Given the description of an element on the screen output the (x, y) to click on. 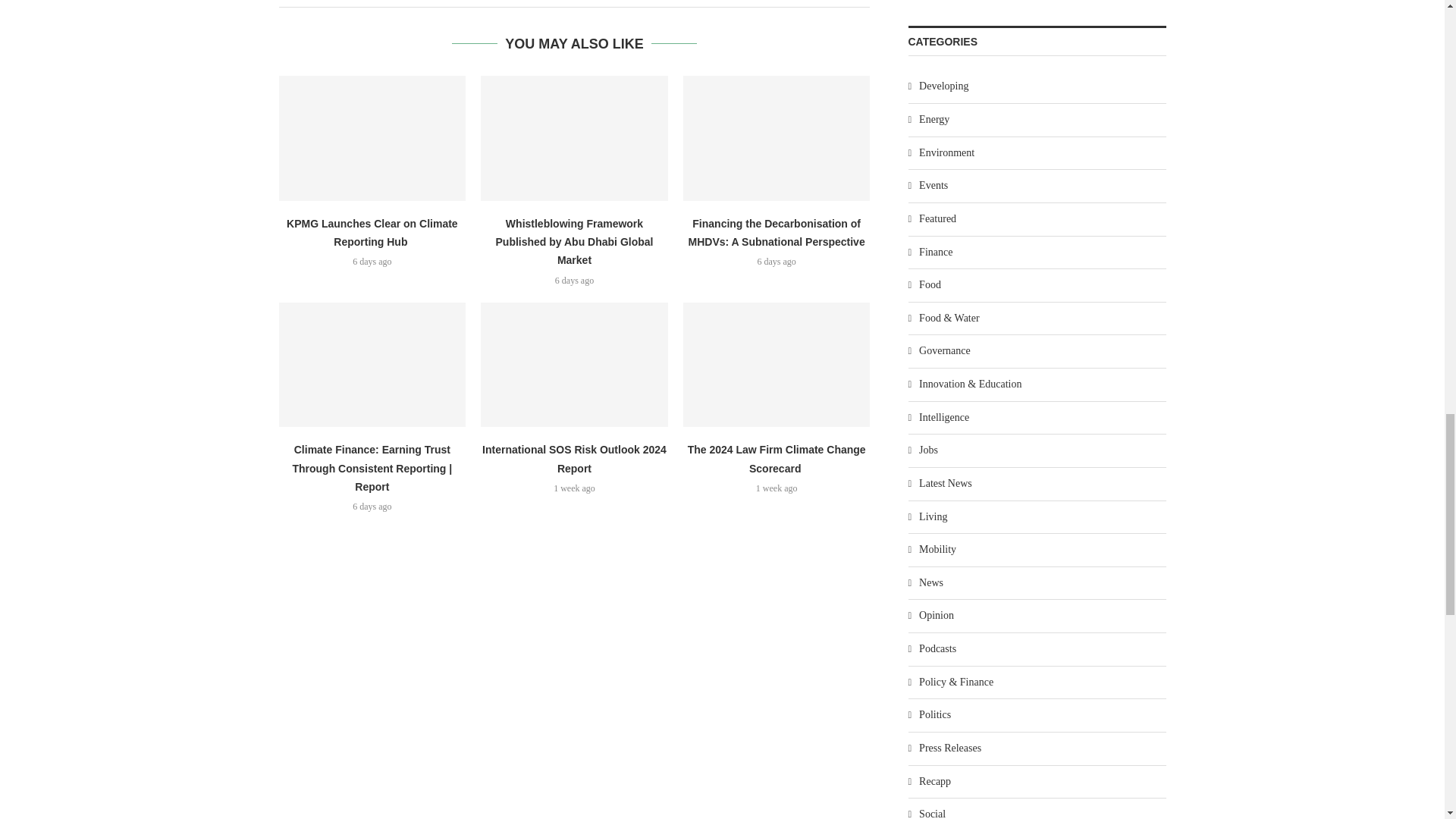
International SOS Risk Outlook 2024 Report (574, 364)
